Given the description of an element on the screen output the (x, y) to click on. 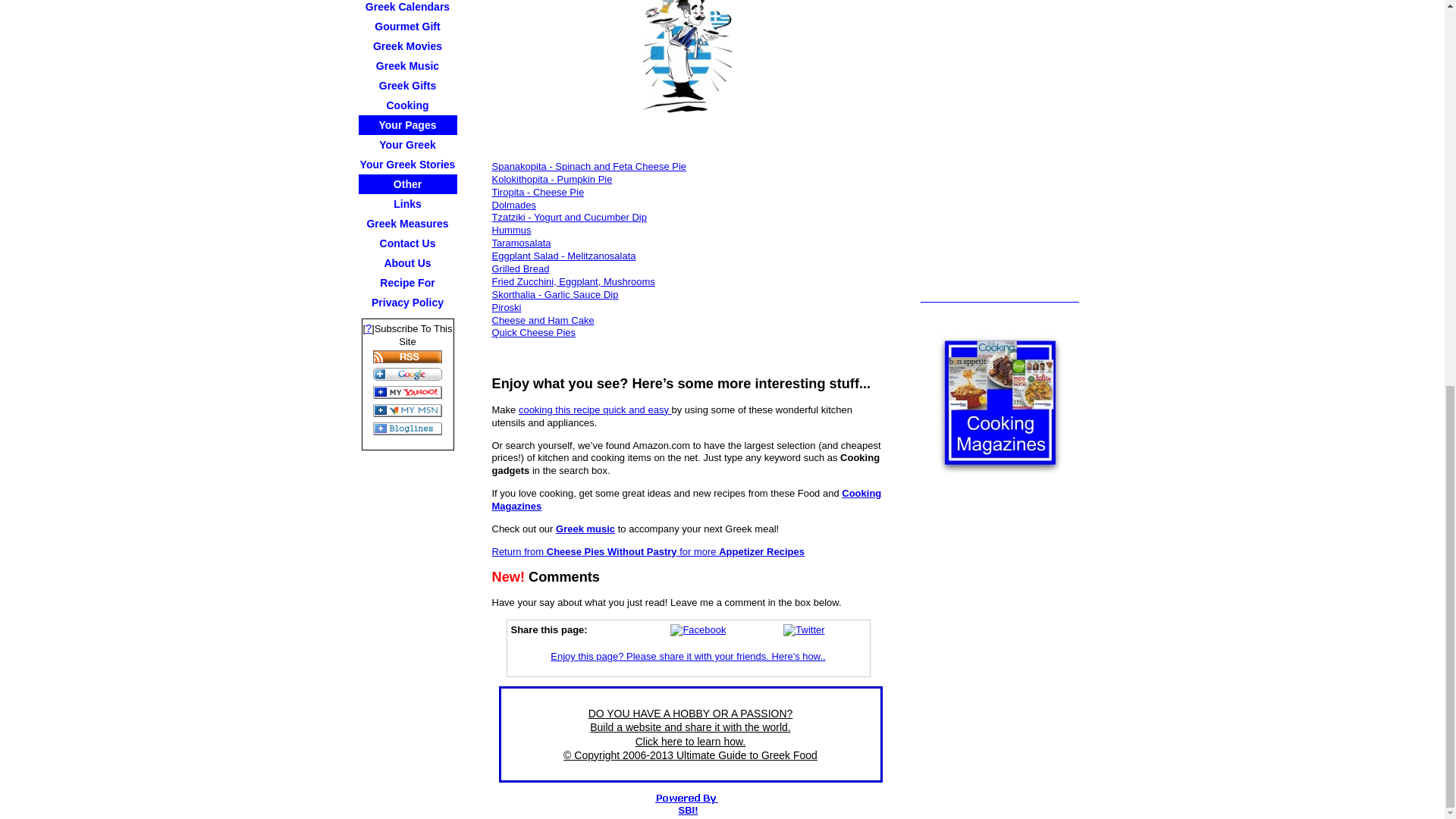
Greek Calendars (407, 8)
Cooking Magazines (407, 105)
Gourmet Gift Baskets (407, 26)
Your Greek Stories (407, 164)
Links (407, 203)
Food and Cooking Magazines (1000, 404)
Recipe For Success (407, 282)
Privacy Policy (407, 302)
Greek Measures (407, 223)
Your Greek Recipes (407, 144)
About Us (407, 262)
Contact Us (407, 243)
Greek Gifts (407, 85)
Greek Music (407, 66)
Greek Movies (407, 46)
